Given the description of an element on the screen output the (x, y) to click on. 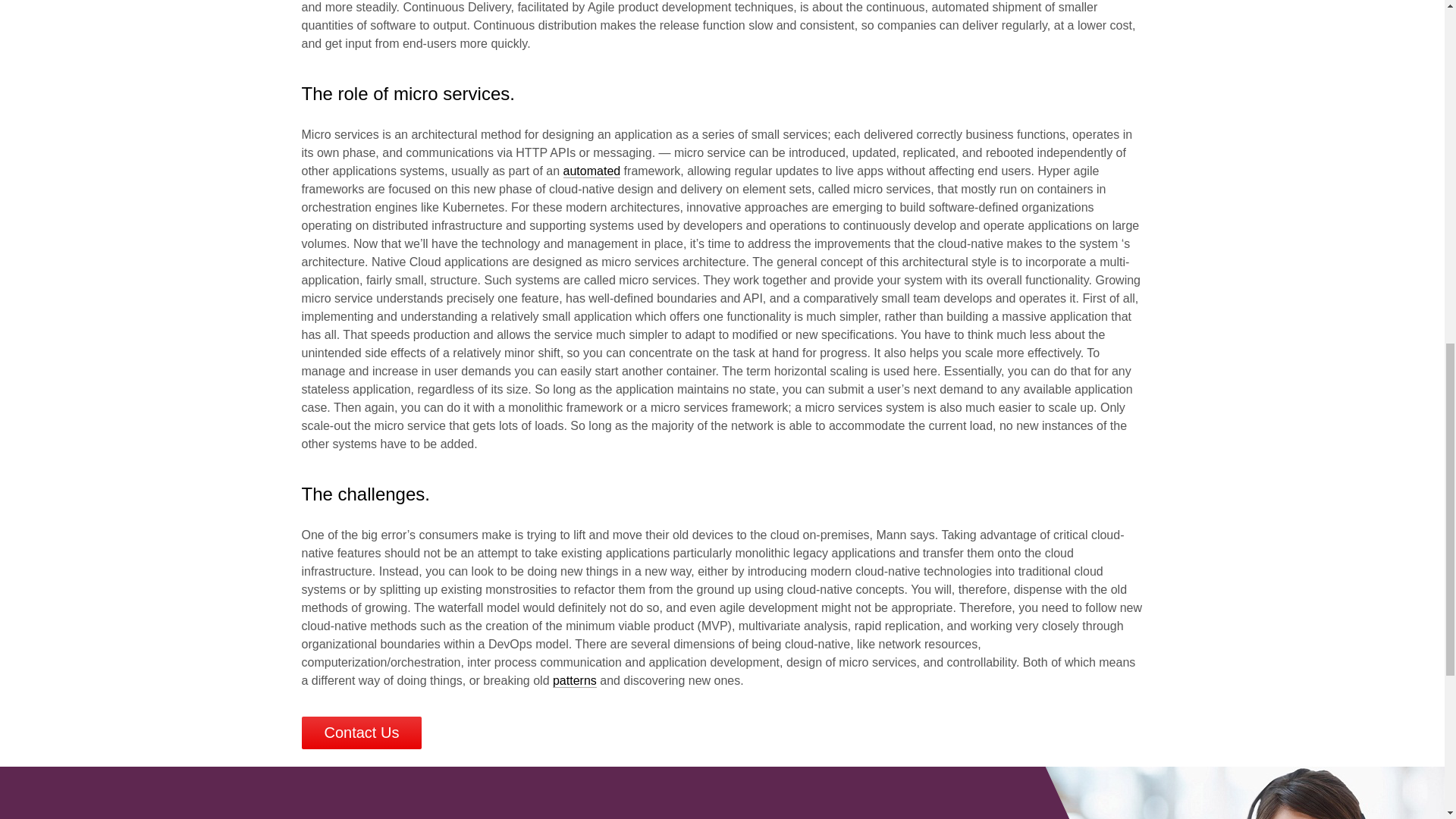
patterns (574, 680)
Contact Us (361, 732)
automated (592, 171)
